Given the description of an element on the screen output the (x, y) to click on. 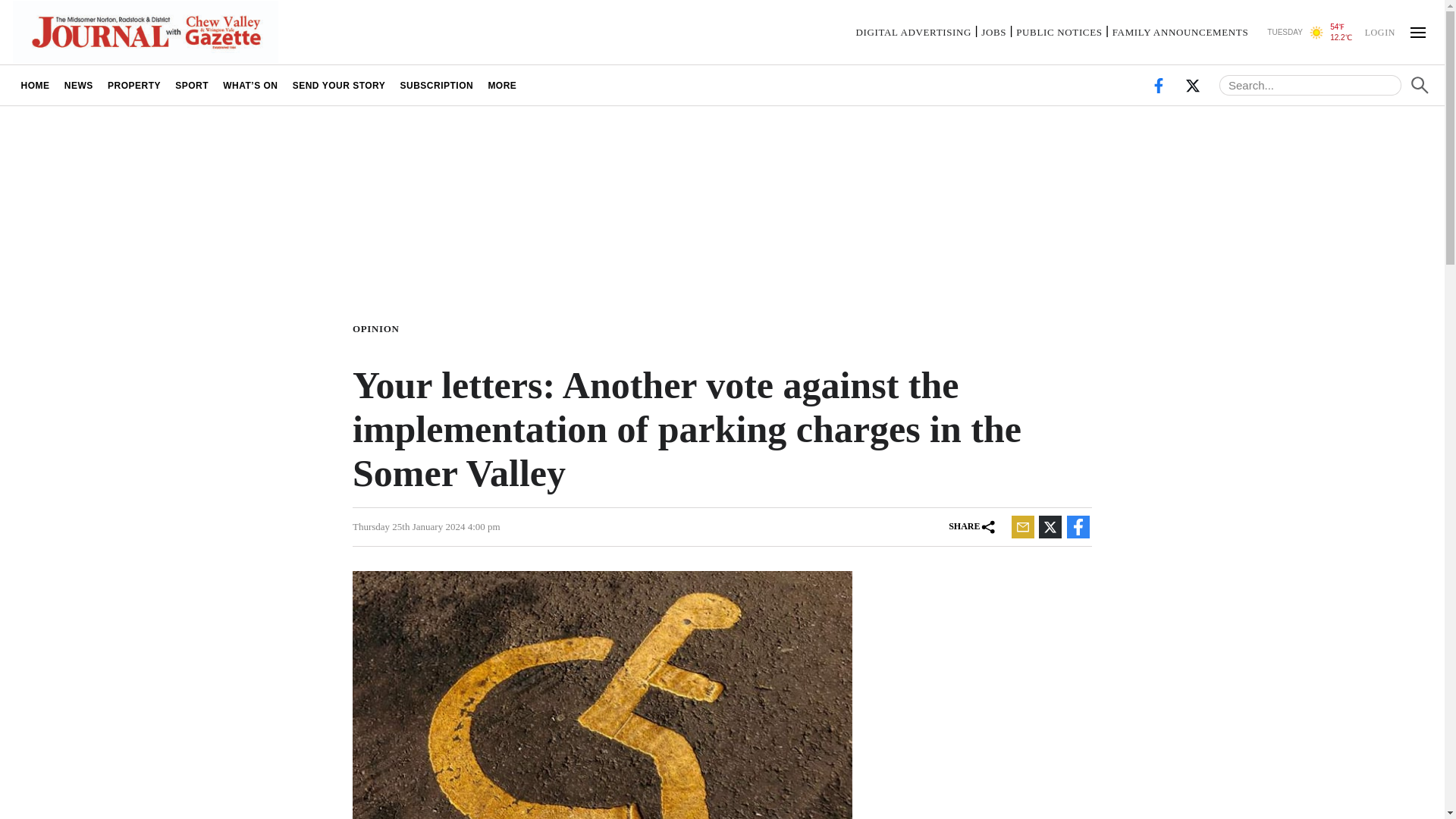
LOGIN (1379, 31)
PROPERTY (133, 85)
OPINION (379, 328)
HOME (34, 85)
SUBSCRIPTION (436, 85)
NEWS (78, 85)
SEND YOUR STORY (339, 85)
MORE (502, 85)
FAMILY ANNOUNCEMENTS (1180, 32)
SPORT (191, 85)
